Given the description of an element on the screen output the (x, y) to click on. 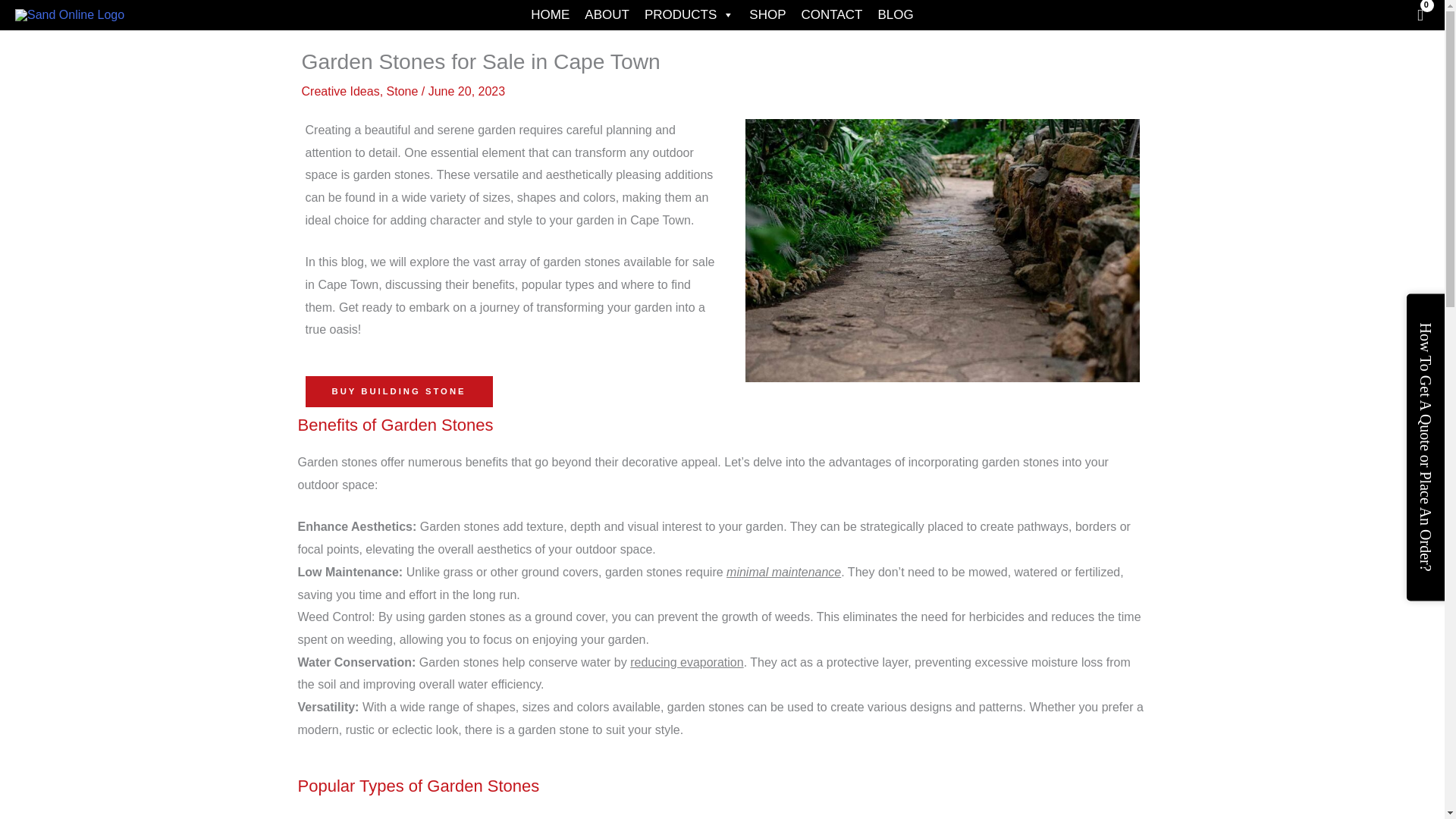
PRODUCTS (689, 15)
Creative Ideas (340, 91)
CONTACT (831, 15)
SHOP (767, 15)
ABOUT (606, 15)
Stone (403, 91)
HOME (549, 15)
BLOG (894, 15)
BUY BUILDING STONE (398, 391)
